Given the description of an element on the screen output the (x, y) to click on. 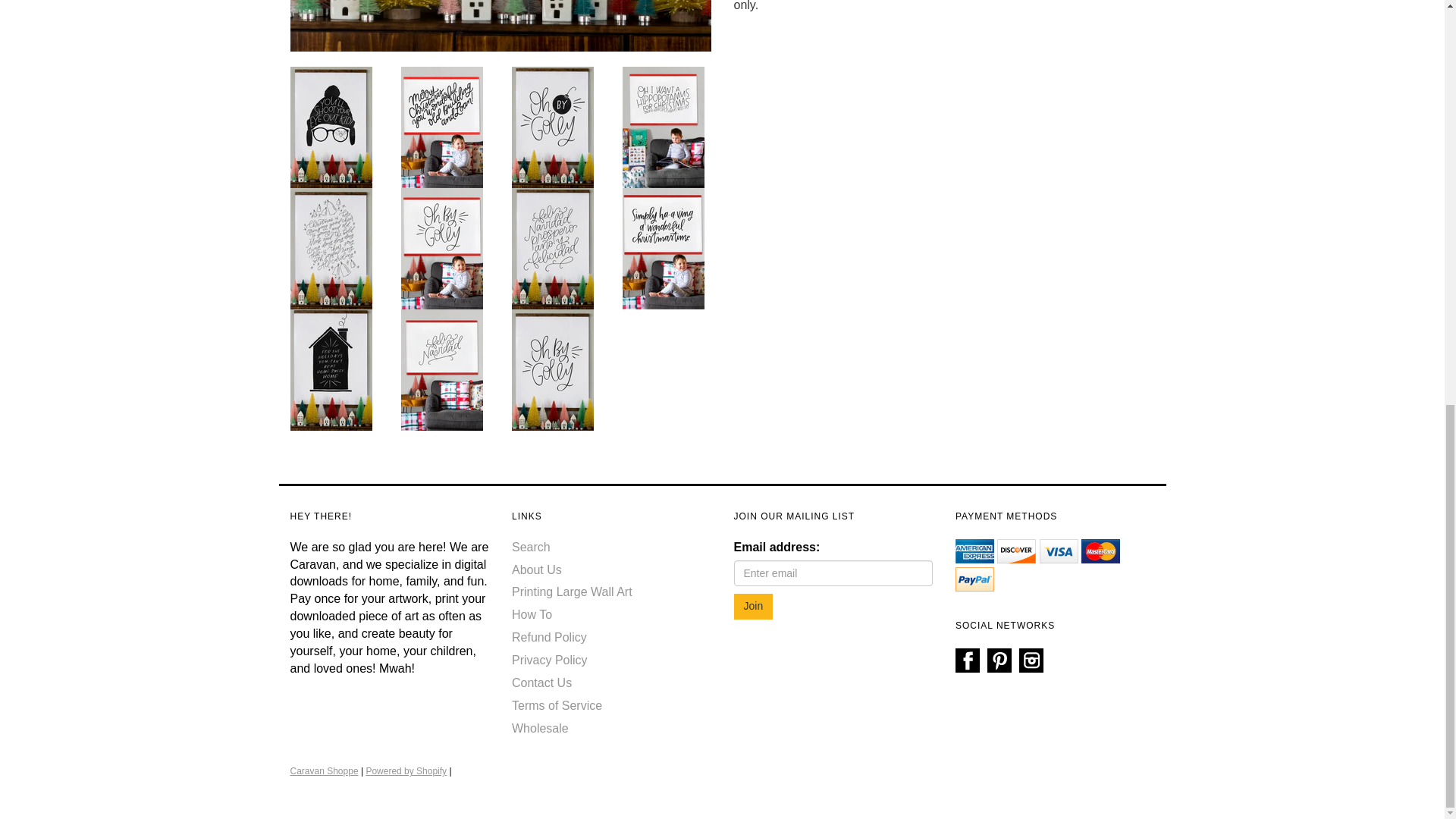
About Us (537, 569)
Iconic Christmas Poster Pack (330, 368)
Iconic Christmas Poster Pack (442, 368)
Join (753, 606)
Wholesale (540, 727)
Iconic Christmas Poster Pack (553, 368)
Iconic Christmas Poster Pack (553, 246)
Iconic Christmas Poster Pack (553, 125)
Iconic Christmas Poster Pack (663, 125)
Iconic Christmas Poster Pack (442, 125)
How To (531, 614)
Search (531, 546)
Iconic Christmas Poster Pack (442, 246)
Terms of Service (557, 705)
Iconic Christmas Poster Pack (663, 246)
